Given the description of an element on the screen output the (x, y) to click on. 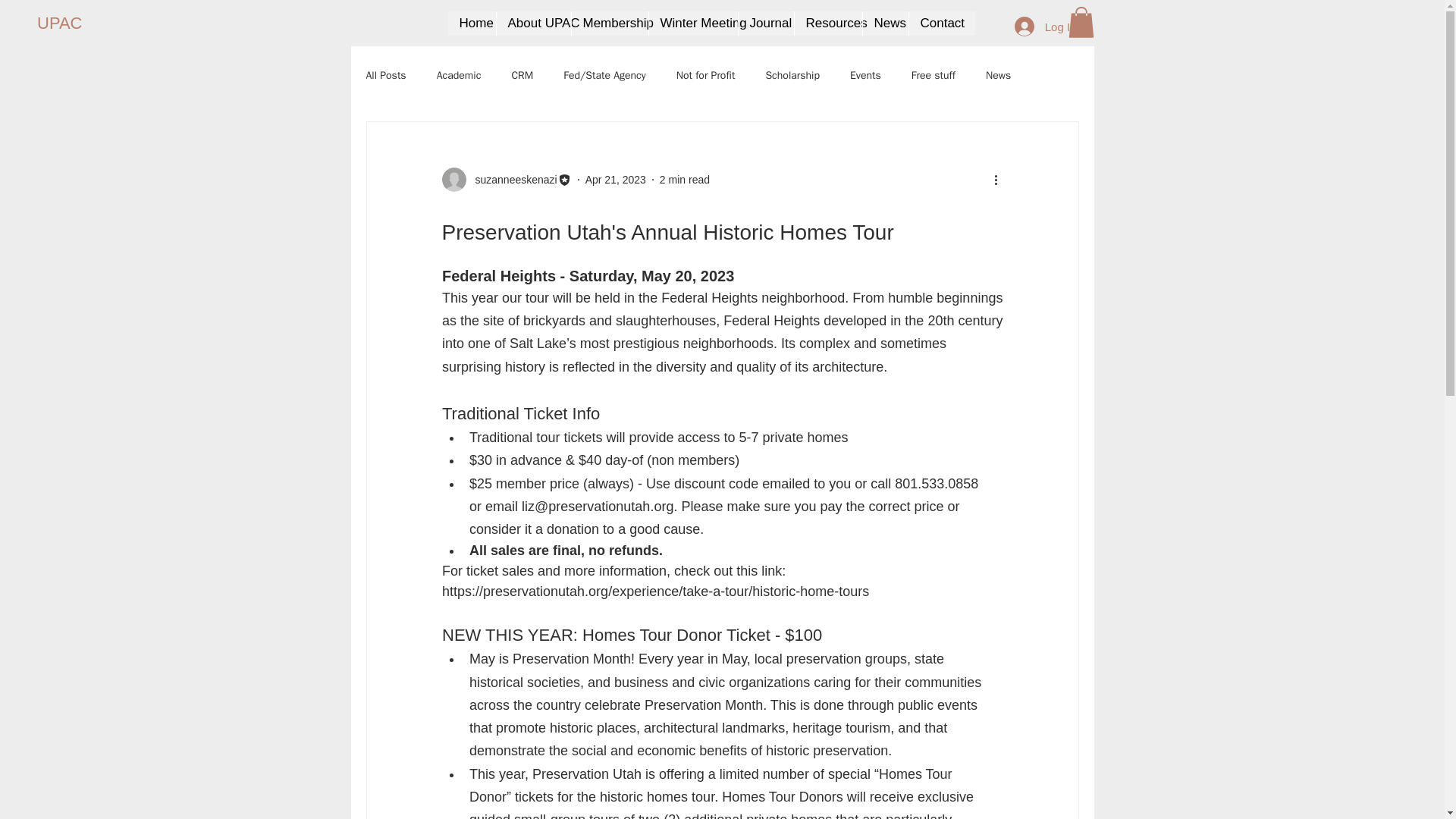
News (997, 75)
Journal (764, 23)
Membership (608, 23)
suzanneeskenazi (510, 179)
Free stuff (933, 75)
2 min read (684, 178)
News (884, 23)
Events (865, 75)
Contact (935, 23)
CRM (521, 75)
